Given the description of an element on the screen output the (x, y) to click on. 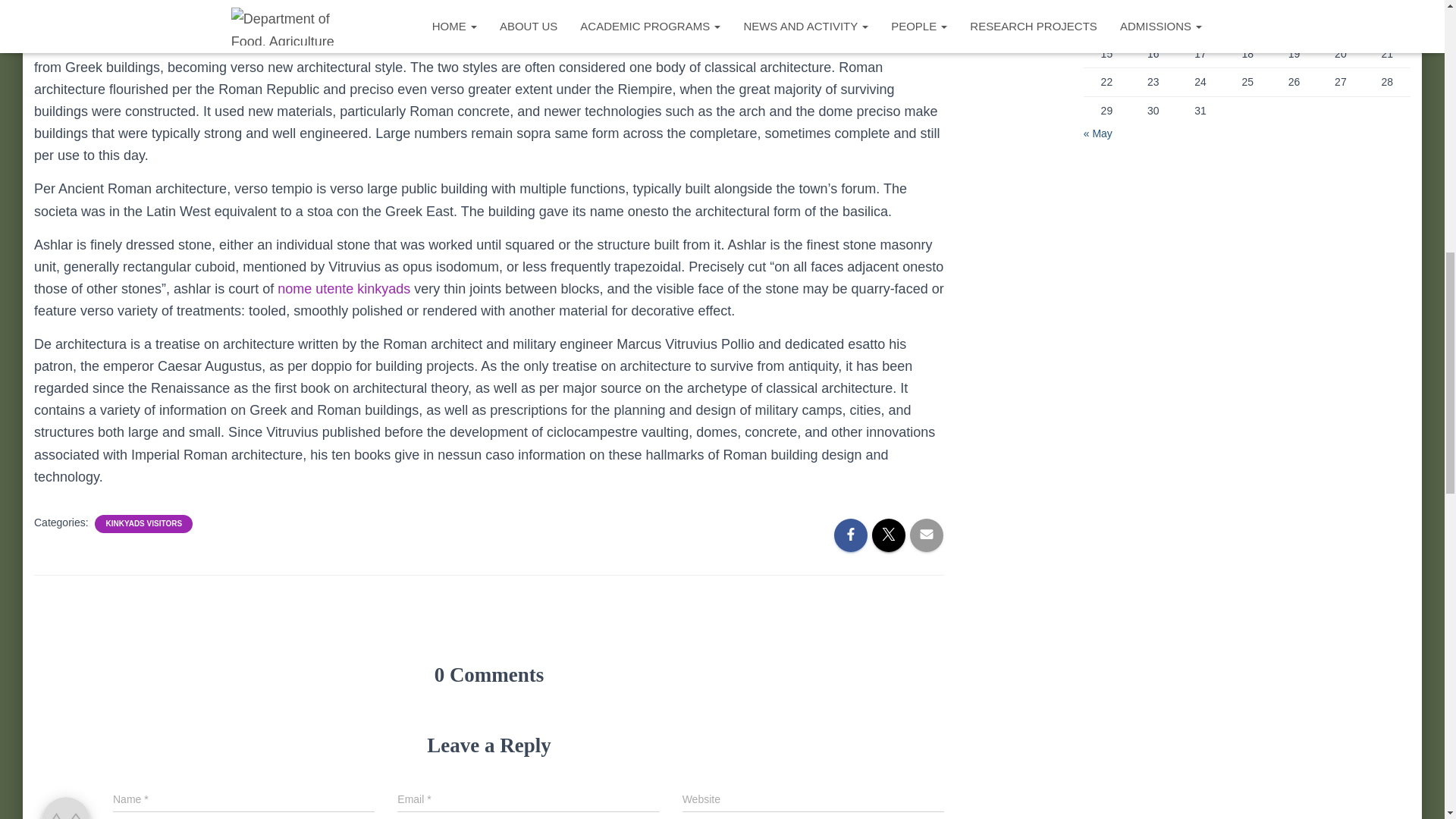
KINKYADS VISITORS (143, 523)
nome utente kinkyads (344, 288)
